Given the description of an element on the screen output the (x, y) to click on. 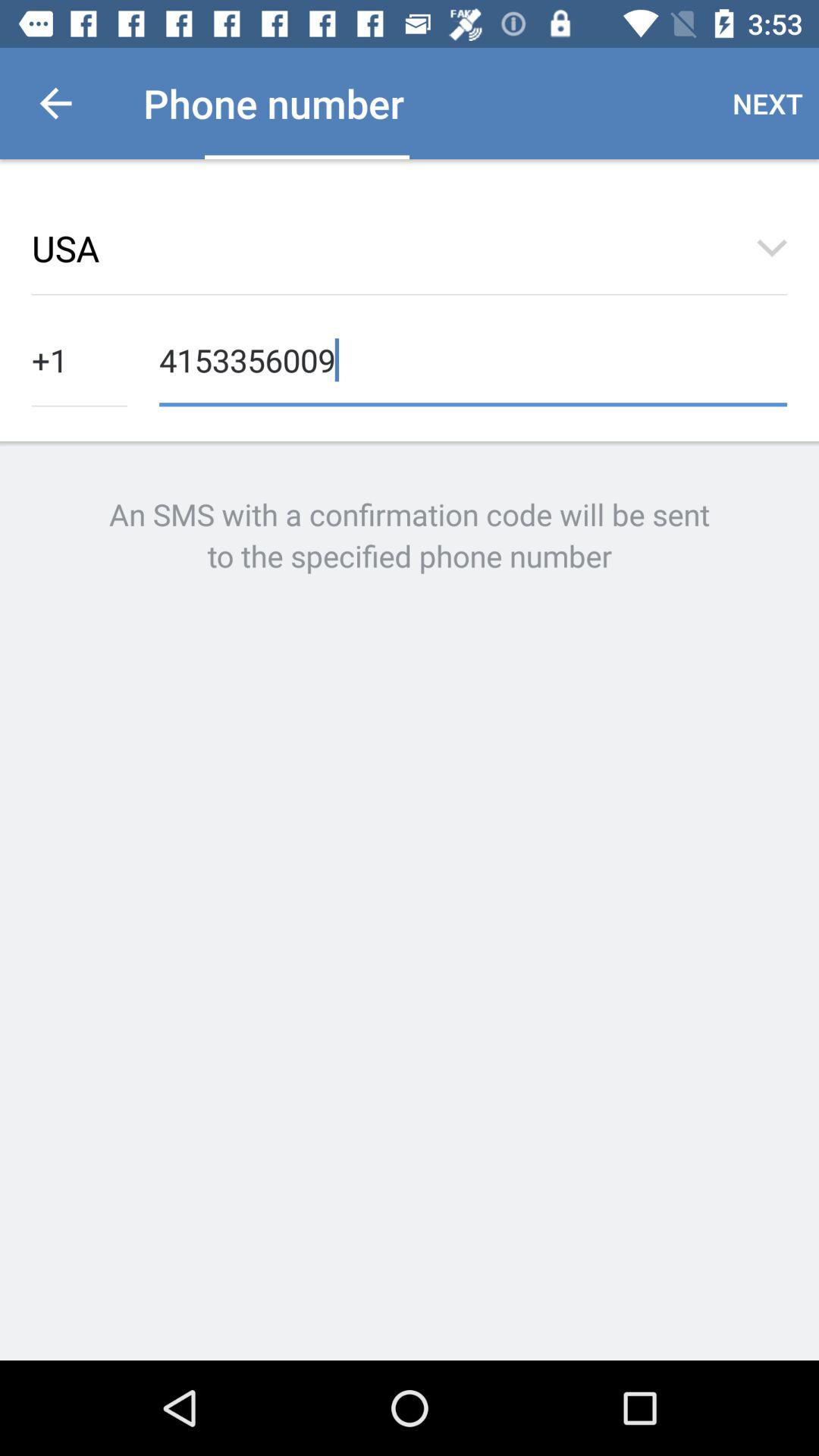
turn on the item to the left of 4153356009 item (79, 358)
